Given the description of an element on the screen output the (x, y) to click on. 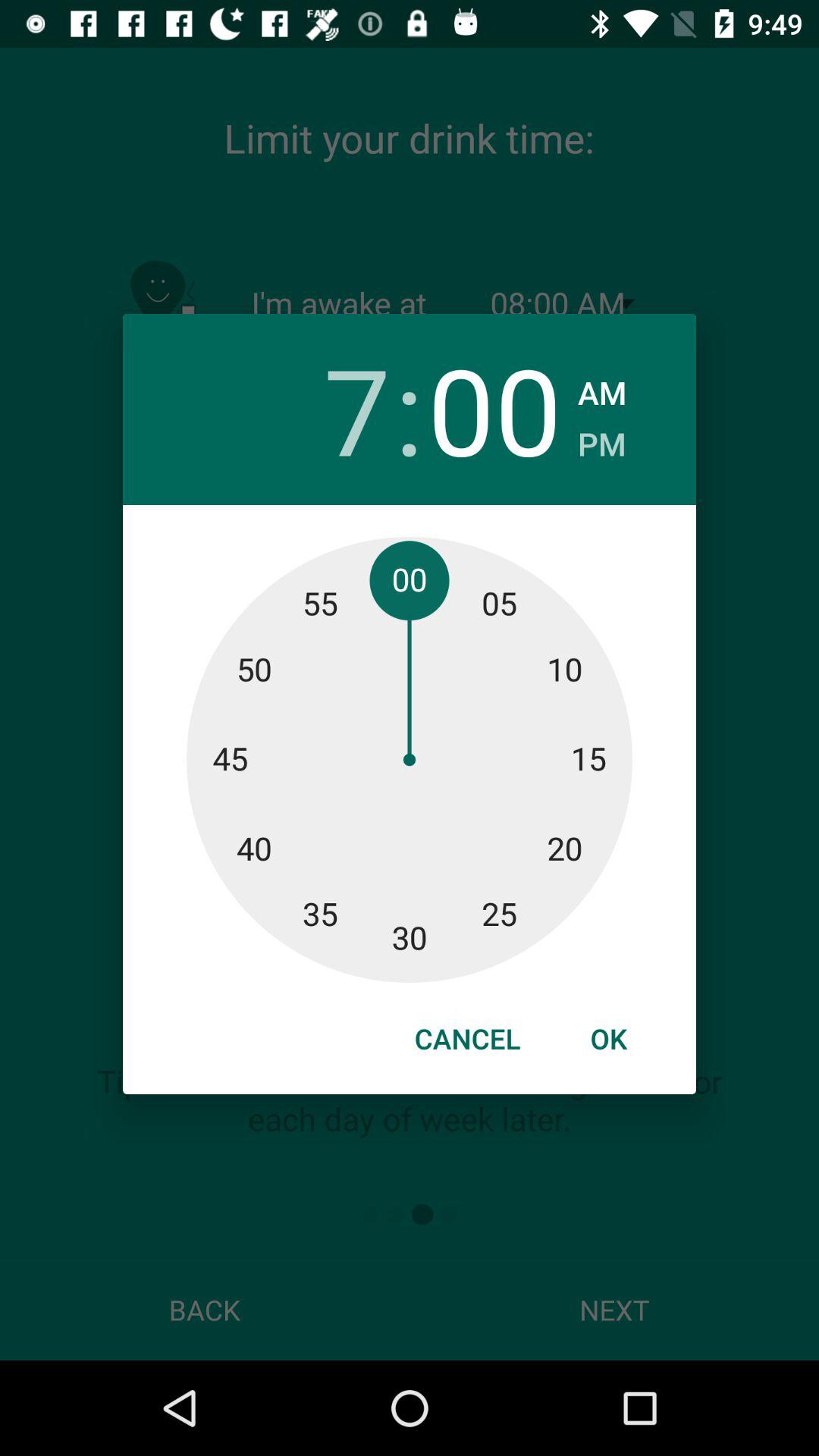
turn off the item above pm checkbox (601, 388)
